Given the description of an element on the screen output the (x, y) to click on. 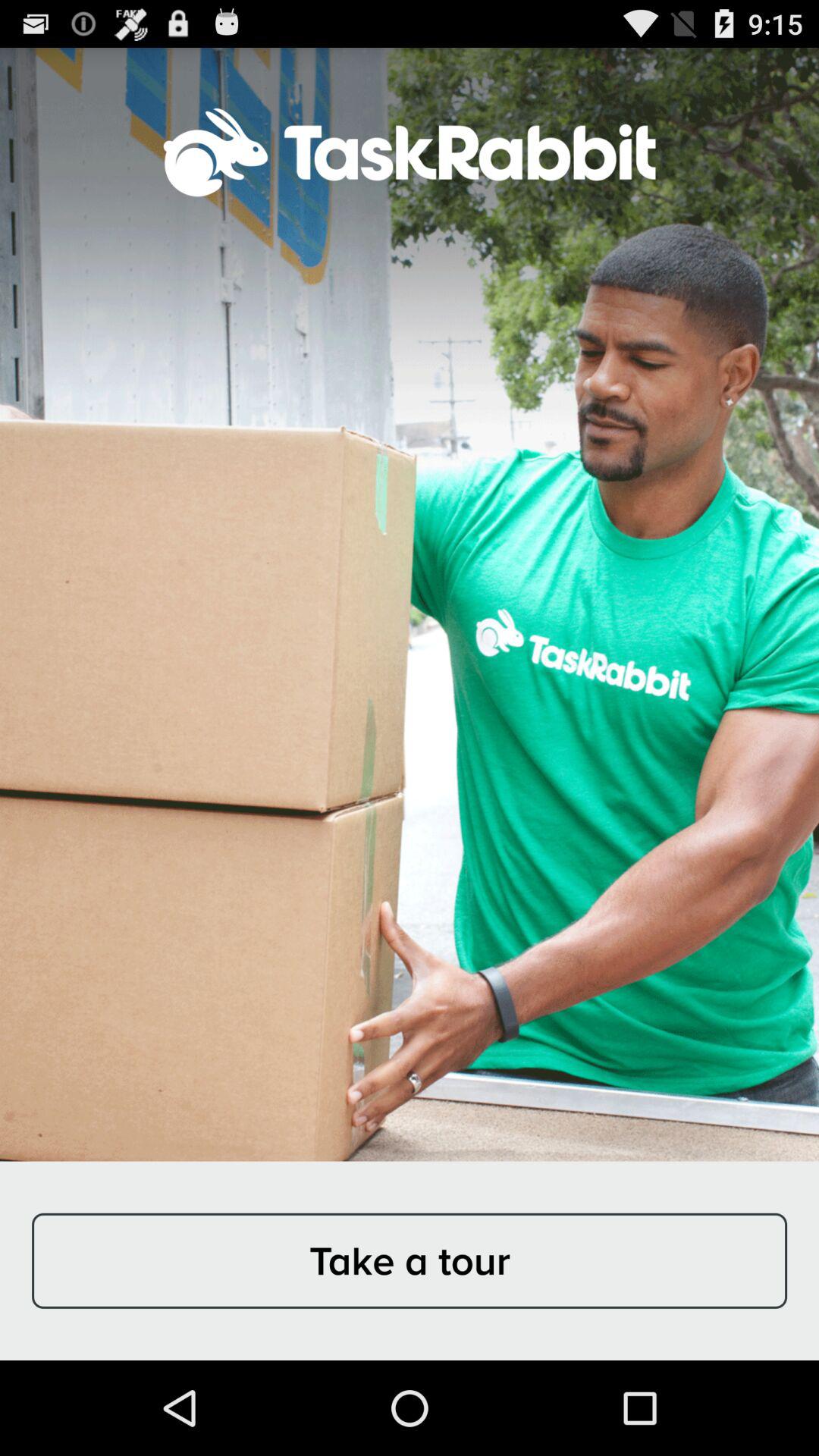
launch take a tour at the bottom (409, 1260)
